Given the description of an element on the screen output the (x, y) to click on. 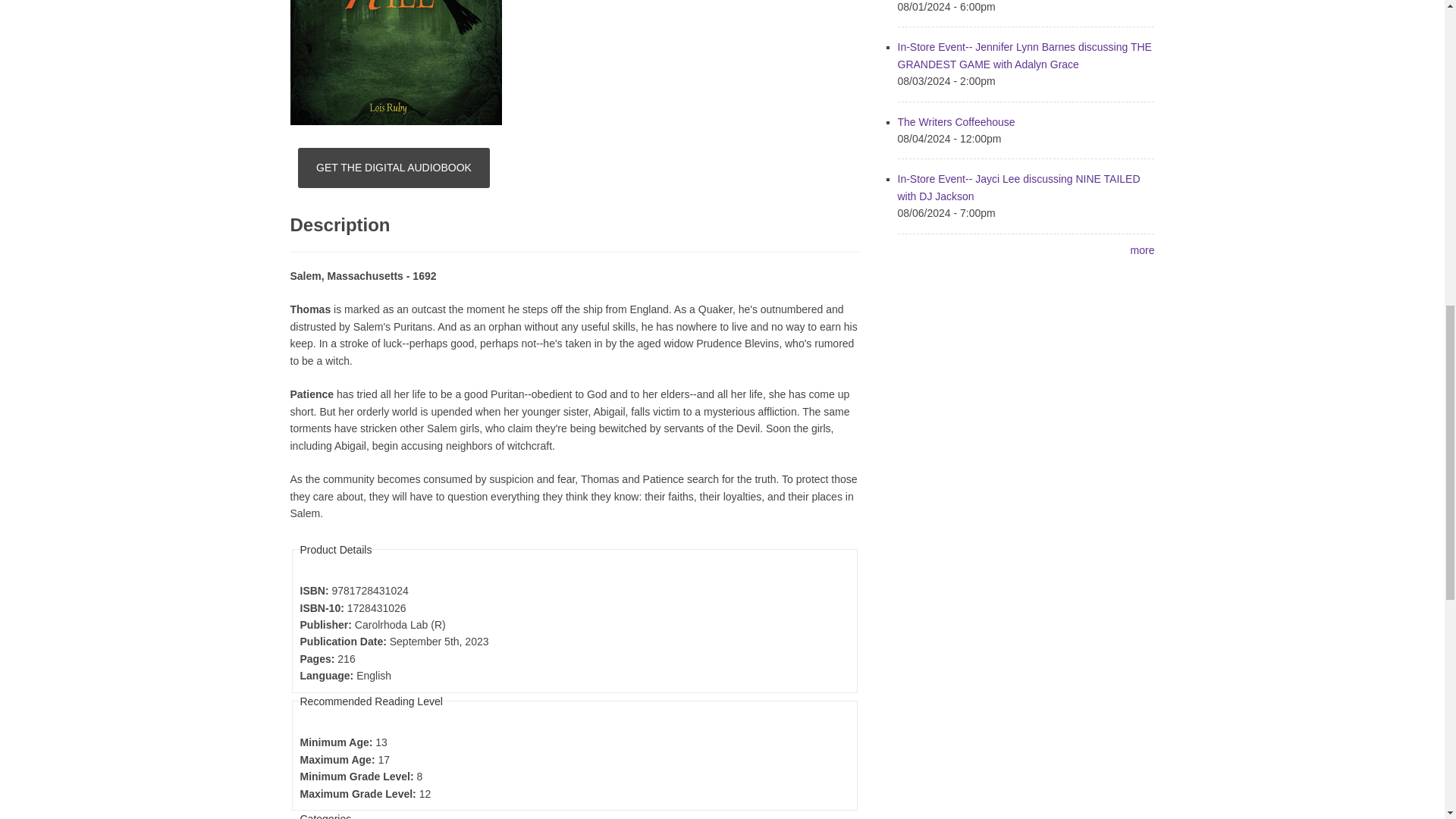
Get the Digital Audiobook (393, 167)
